Given the description of an element on the screen output the (x, y) to click on. 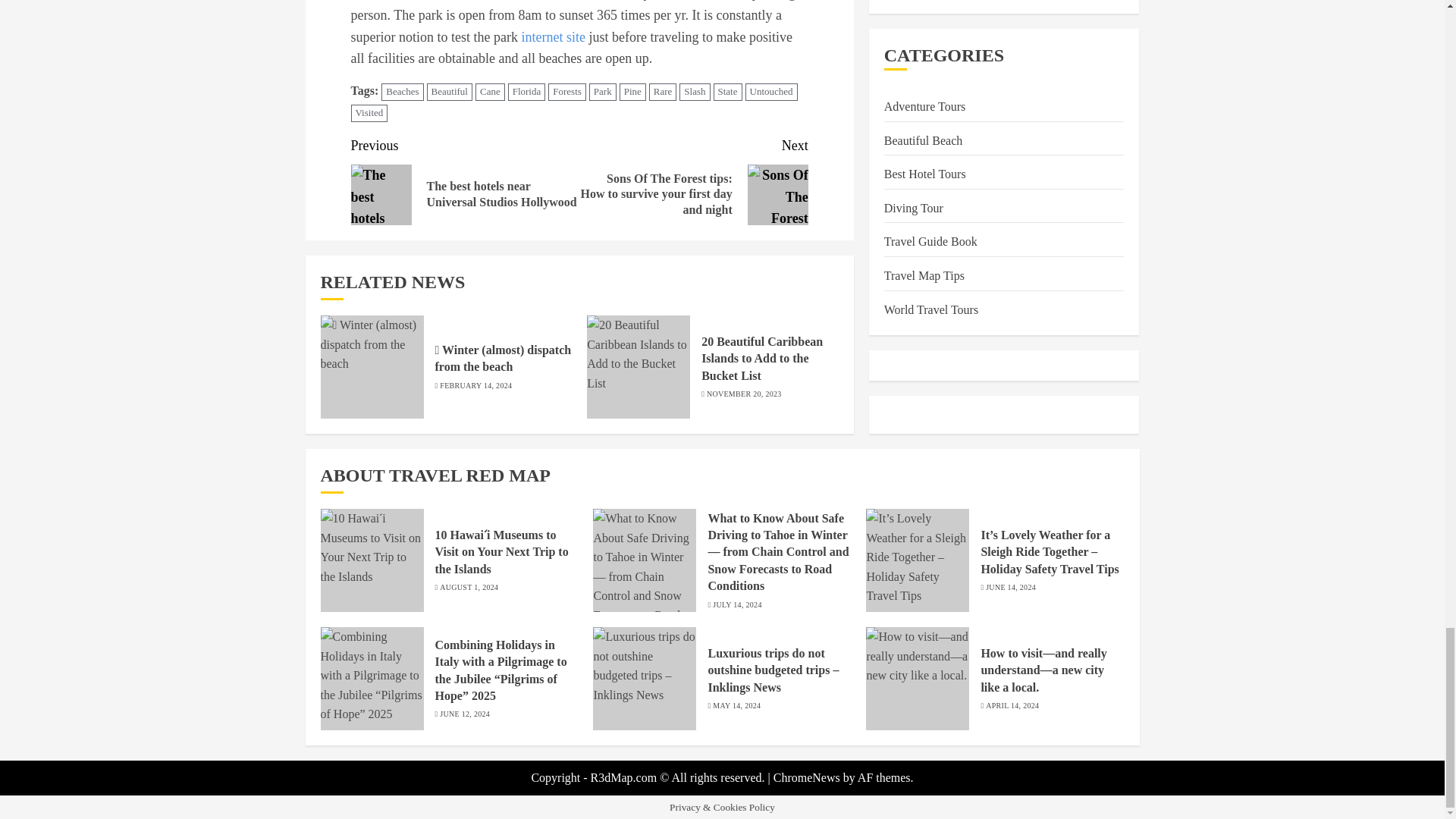
20 Beautiful Caribbean Islands to Add to the Bucket List (638, 366)
The best hotels near Universal Studios Hollywood (380, 194)
